Given the description of an element on the screen output the (x, y) to click on. 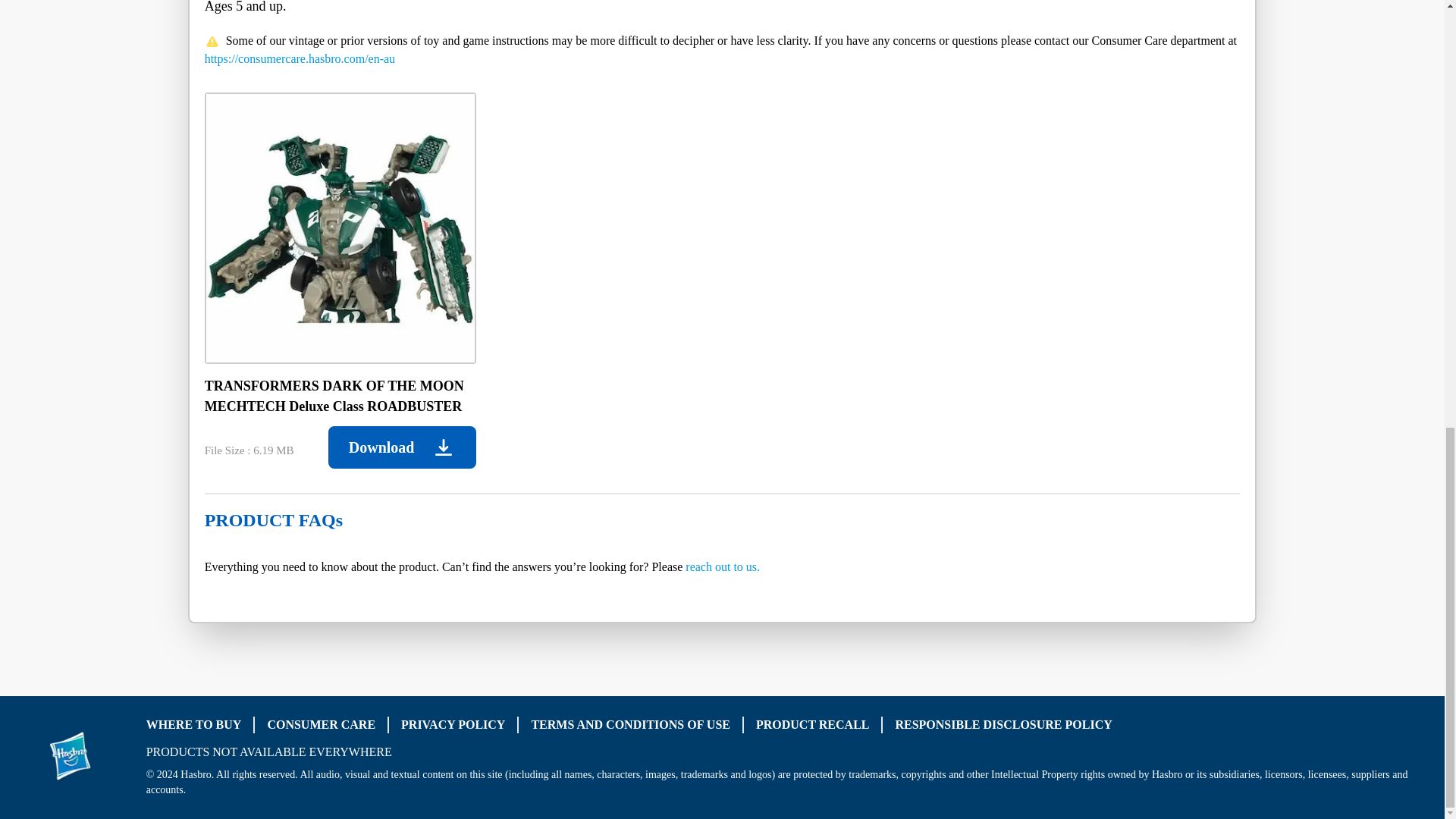
RESPONSIBLE DISCLOSURE POLICY (1003, 724)
PRIVACY POLICY (453, 724)
PRODUCT RECALL (812, 724)
TERMS AND CONDITIONS OF USE (630, 724)
WHERE TO BUY (194, 724)
Download (402, 446)
reach out to us. (722, 566)
CONSUMER CARE (320, 724)
